Given the description of an element on the screen output the (x, y) to click on. 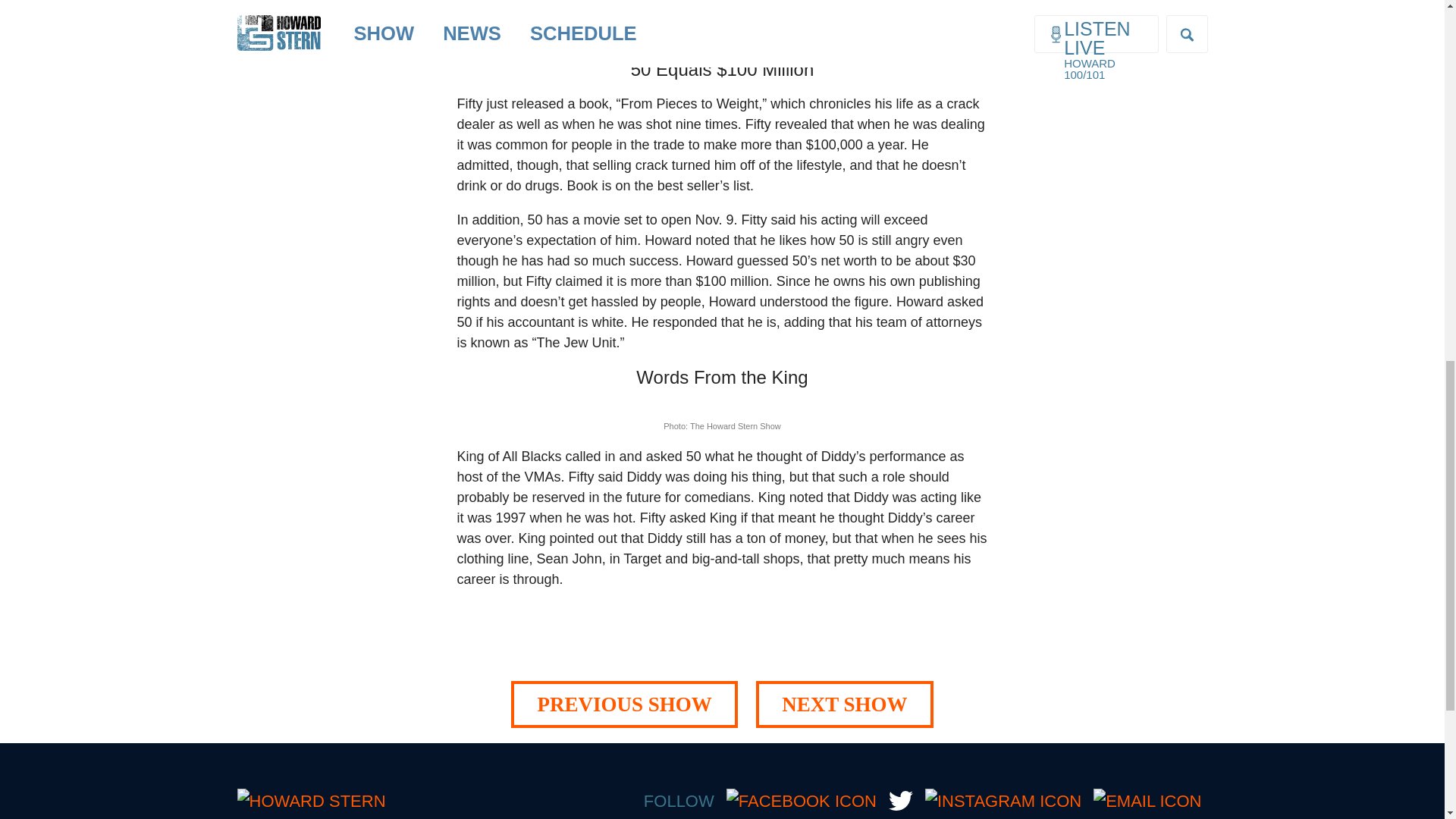
PREVIOUS SHOW (623, 704)
NEXT SHOW (844, 704)
